Given the description of an element on the screen output the (x, y) to click on. 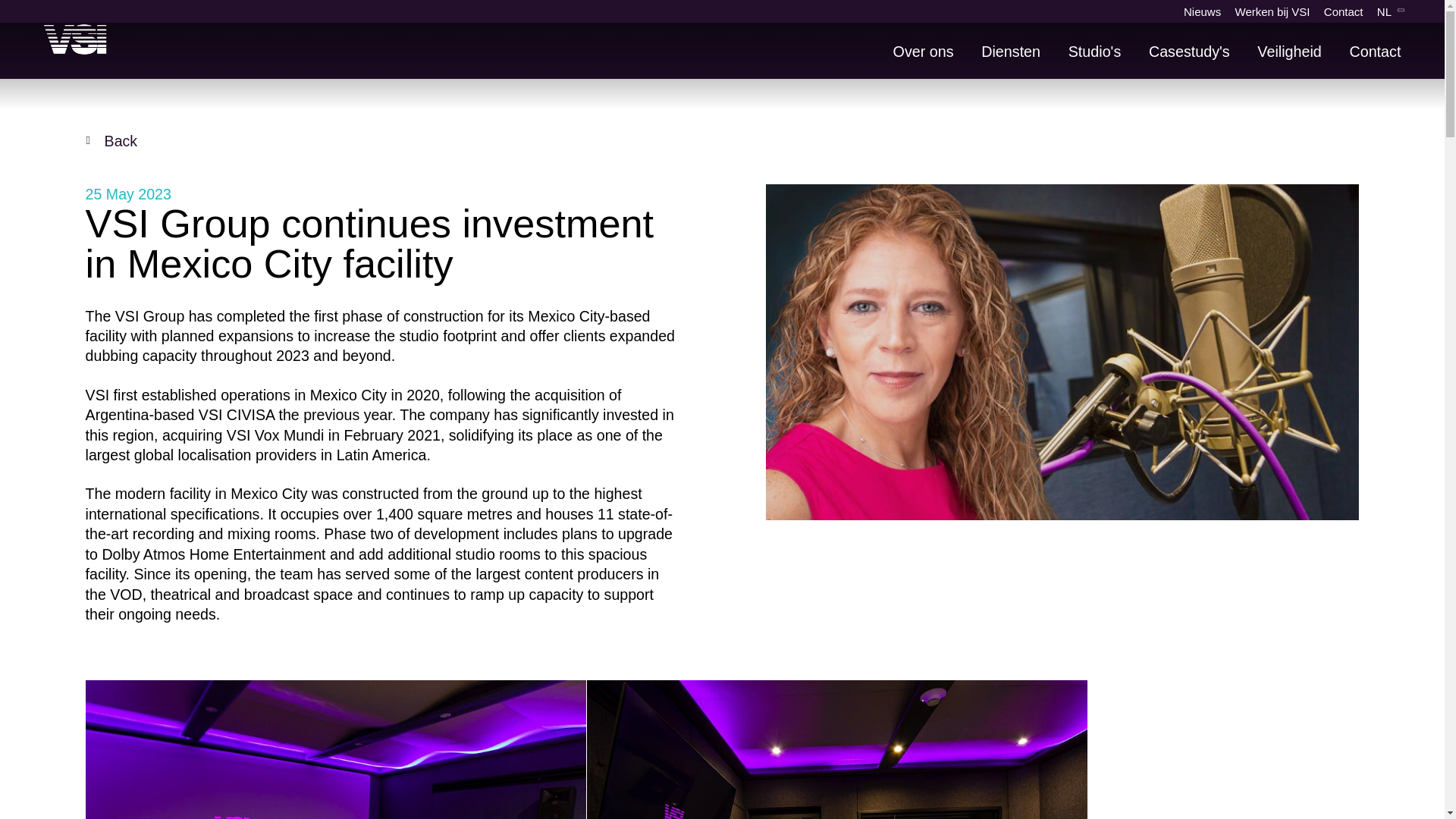
Studio's (1094, 51)
Casestudy's (1189, 51)
Back (121, 140)
Over ons (923, 51)
Nieuws (1202, 11)
Veiligheid (1288, 51)
Contact (1374, 51)
Diensten (1011, 51)
Diensten (1011, 51)
Contact (1374, 51)
